Given the description of an element on the screen output the (x, y) to click on. 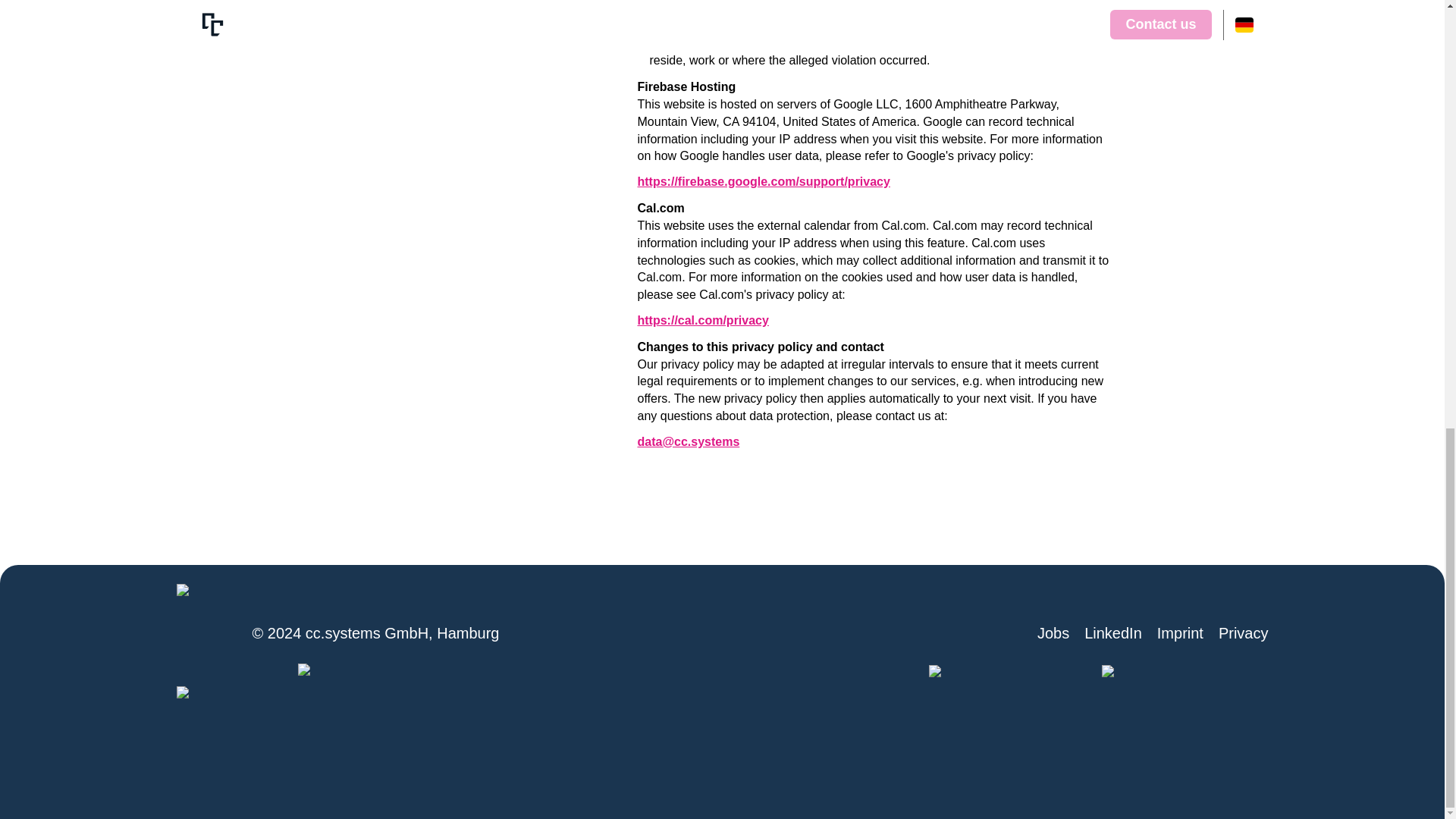
Privacy (1243, 632)
Imprint (1180, 632)
Jobs (1052, 632)
LinkedIn (1112, 632)
